Given the description of an element on the screen output the (x, y) to click on. 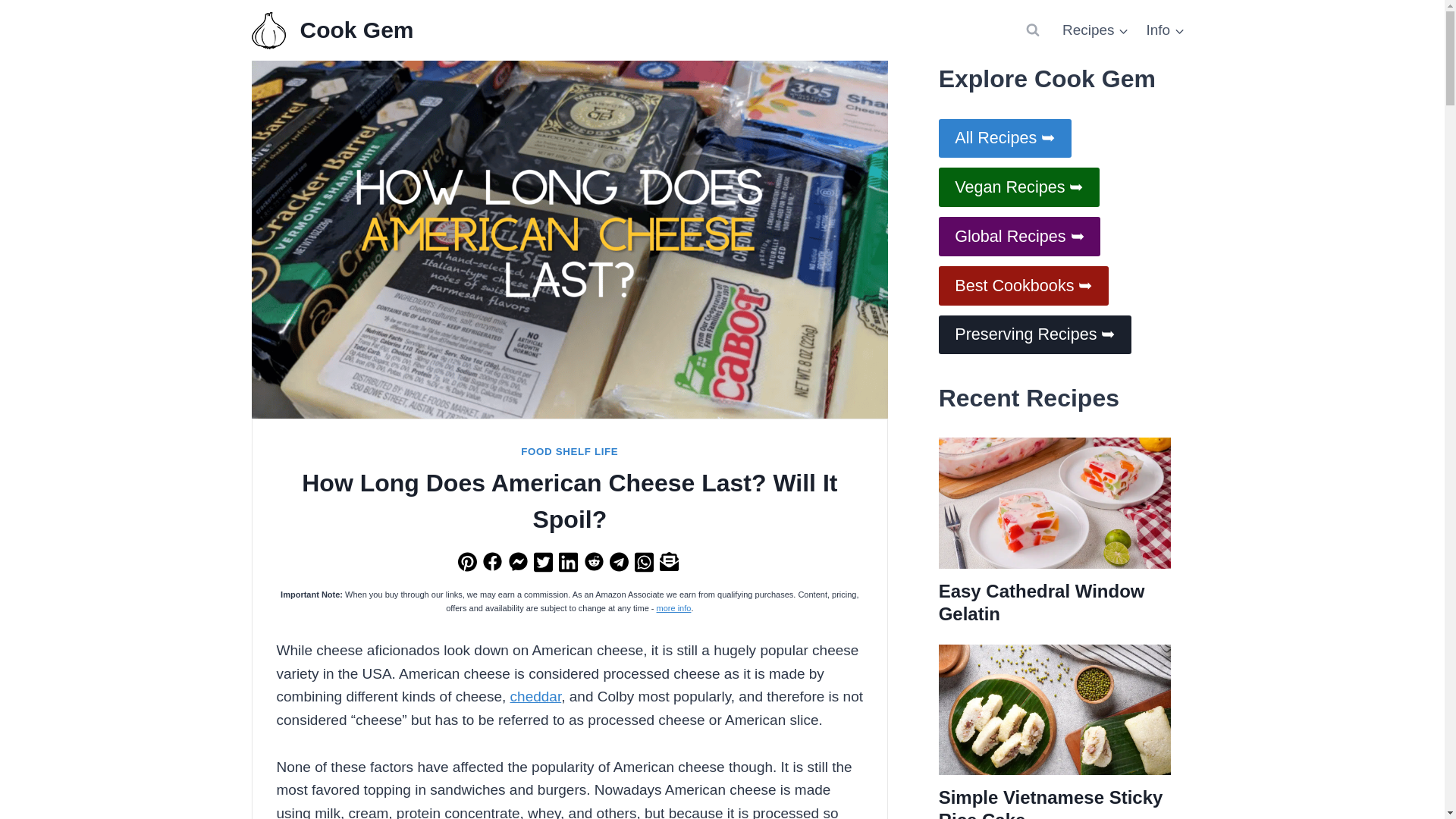
Info (1164, 29)
more info (673, 607)
FOOD SHELF LIFE (569, 451)
cheddar (536, 696)
Cook Gem (332, 30)
Recipes (1095, 29)
